Given the description of an element on the screen output the (x, y) to click on. 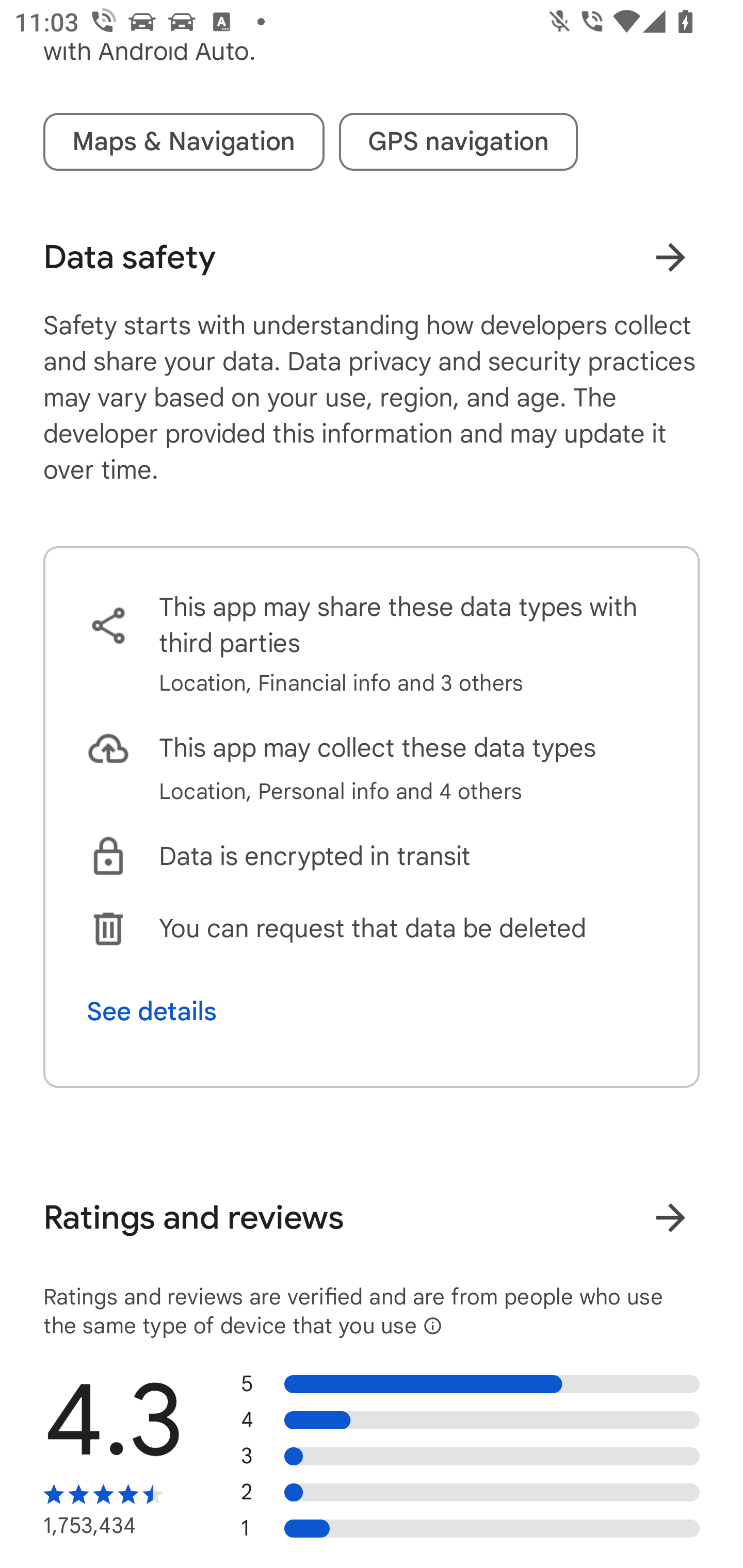
Maps & Navigation tag (183, 141)
GPS navigation tag (458, 141)
Data safety Learn more about data safety (371, 256)
Learn more about data safety (670, 257)
See details (151, 1012)
Ratings and reviews View all ratings and reviews (371, 1217)
View all ratings and reviews (670, 1217)
